Given the description of an element on the screen output the (x, y) to click on. 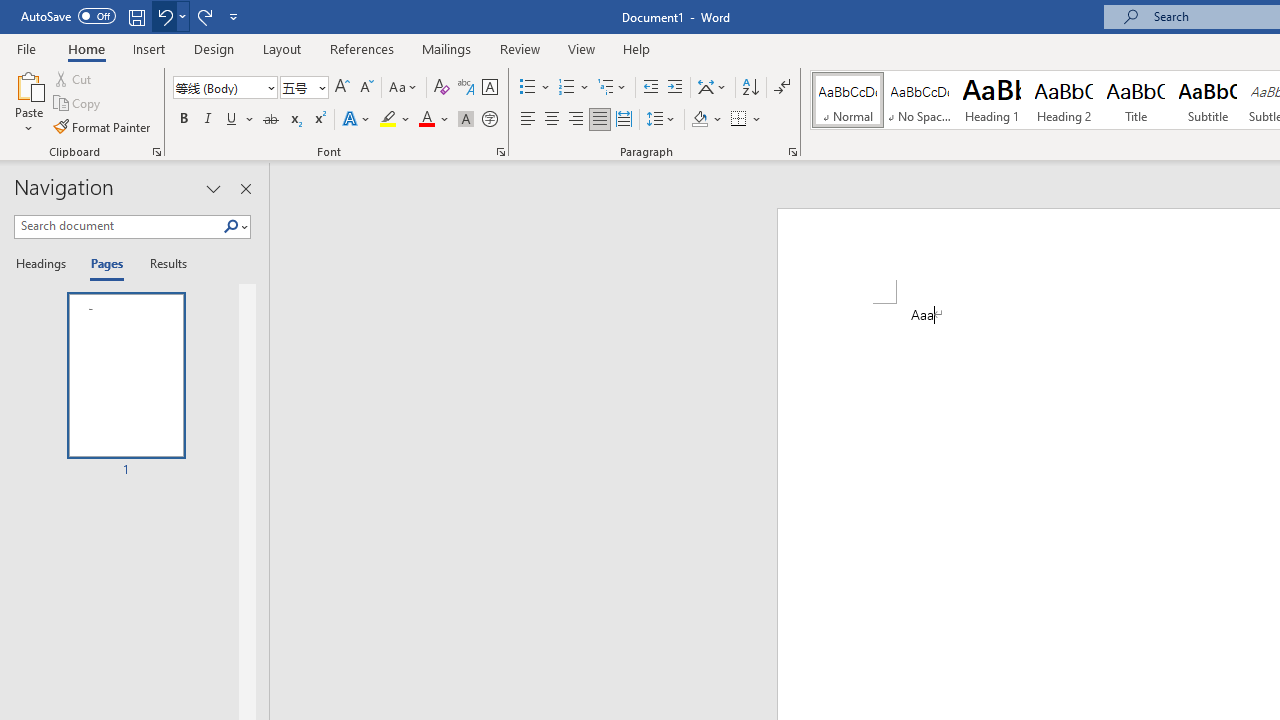
Character Shading (465, 119)
Superscript (319, 119)
Italic (207, 119)
Line and Paragraph Spacing (661, 119)
Shading RGB(0, 0, 0) (699, 119)
Distributed (623, 119)
Clear Formatting (442, 87)
Format Painter (103, 126)
Headings (45, 264)
Results (161, 264)
Increase Indent (675, 87)
Phonetic Guide... (465, 87)
